Given the description of an element on the screen output the (x, y) to click on. 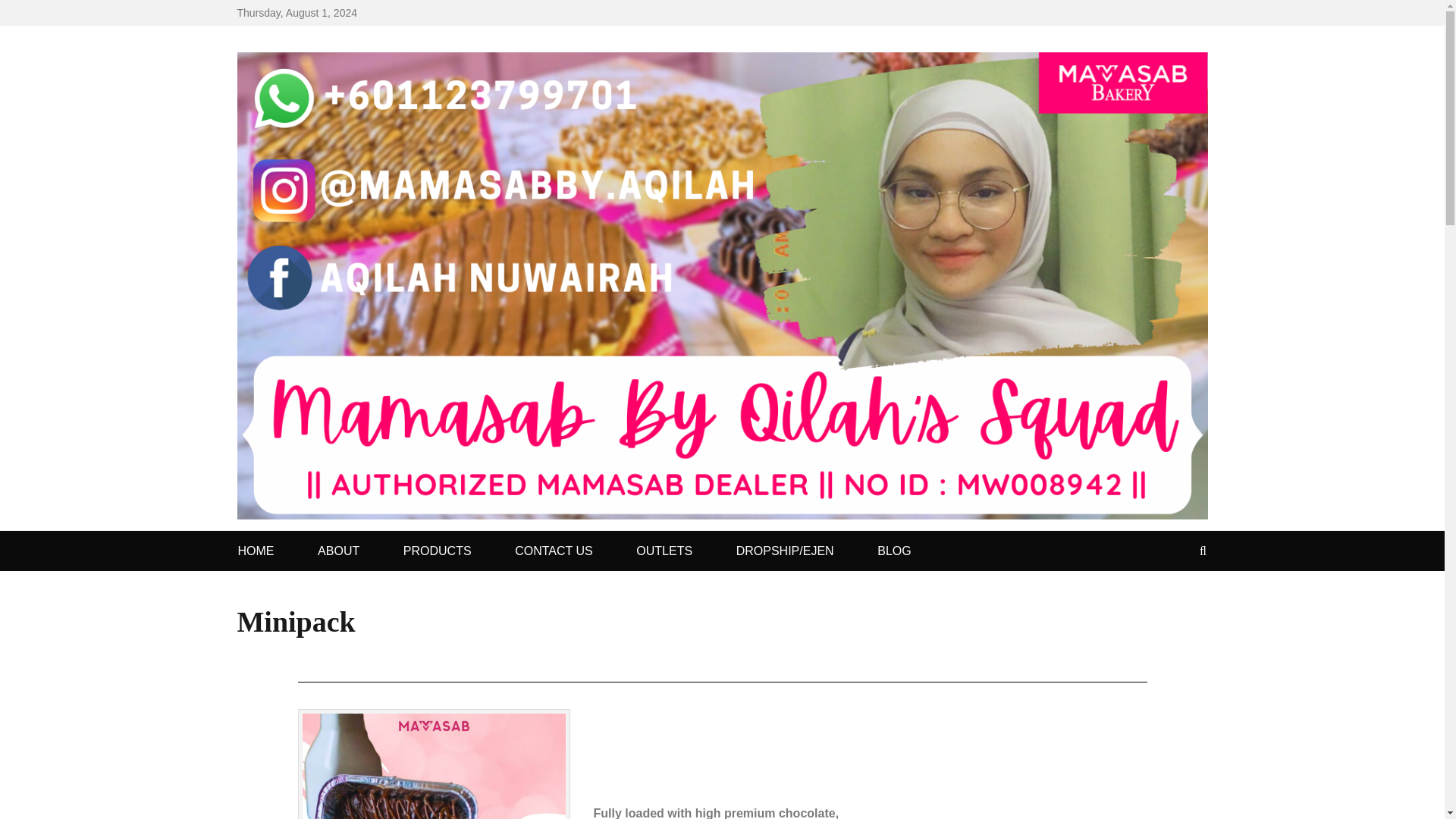
PRODUCTS (437, 550)
LAMAN WEB KATALOG MAMASAB BAKERY DARI STOKIS QILAH. (771, 65)
HOME (255, 550)
OUTLETS (664, 550)
BLOG (893, 550)
CONTACT US (553, 550)
ABOUT (338, 550)
